Given the description of an element on the screen output the (x, y) to click on. 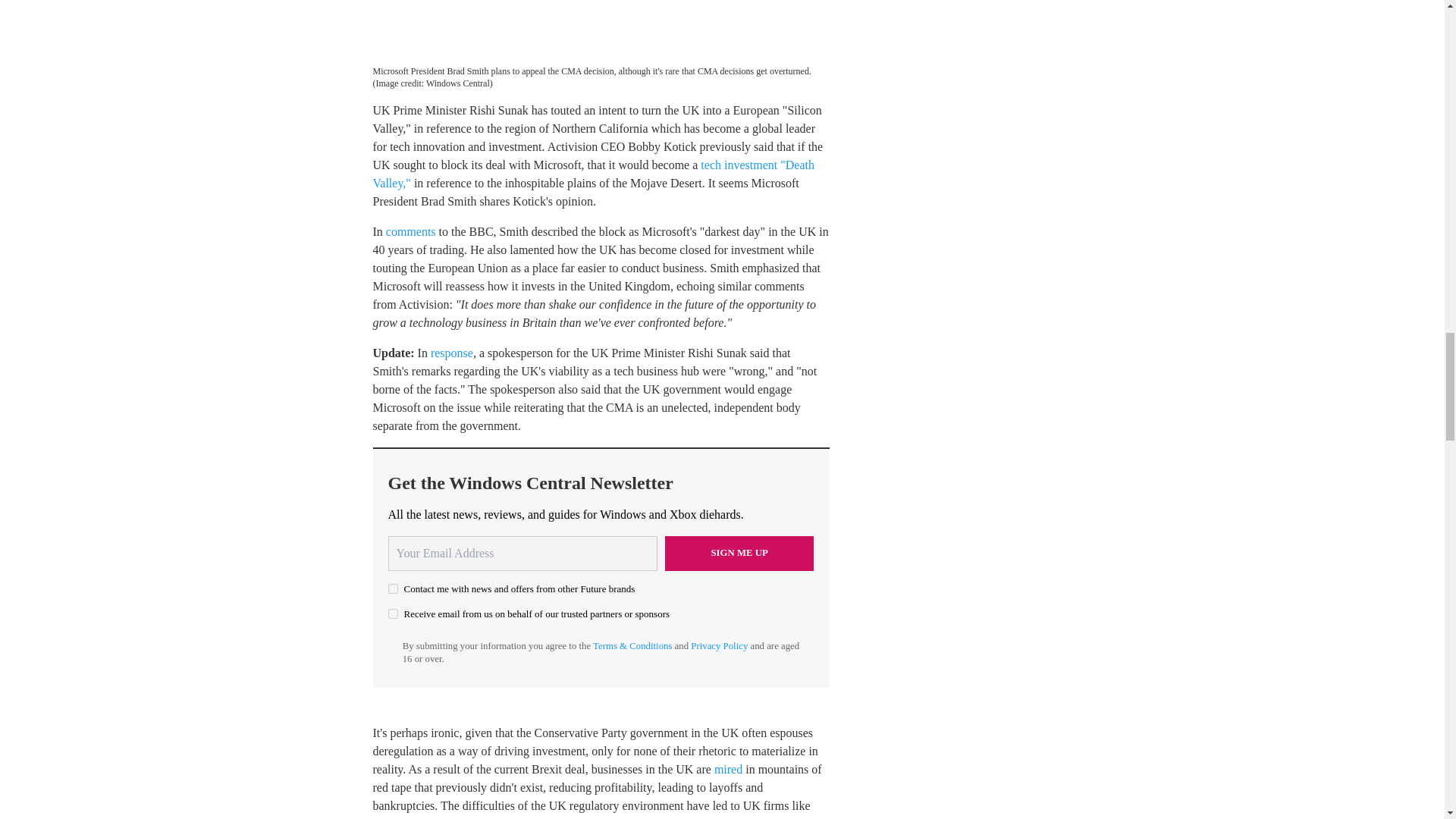
on (392, 588)
tech investment "Death Valley," (592, 173)
Sign me up (739, 553)
on (392, 614)
comments (410, 231)
